Given the description of an element on the screen output the (x, y) to click on. 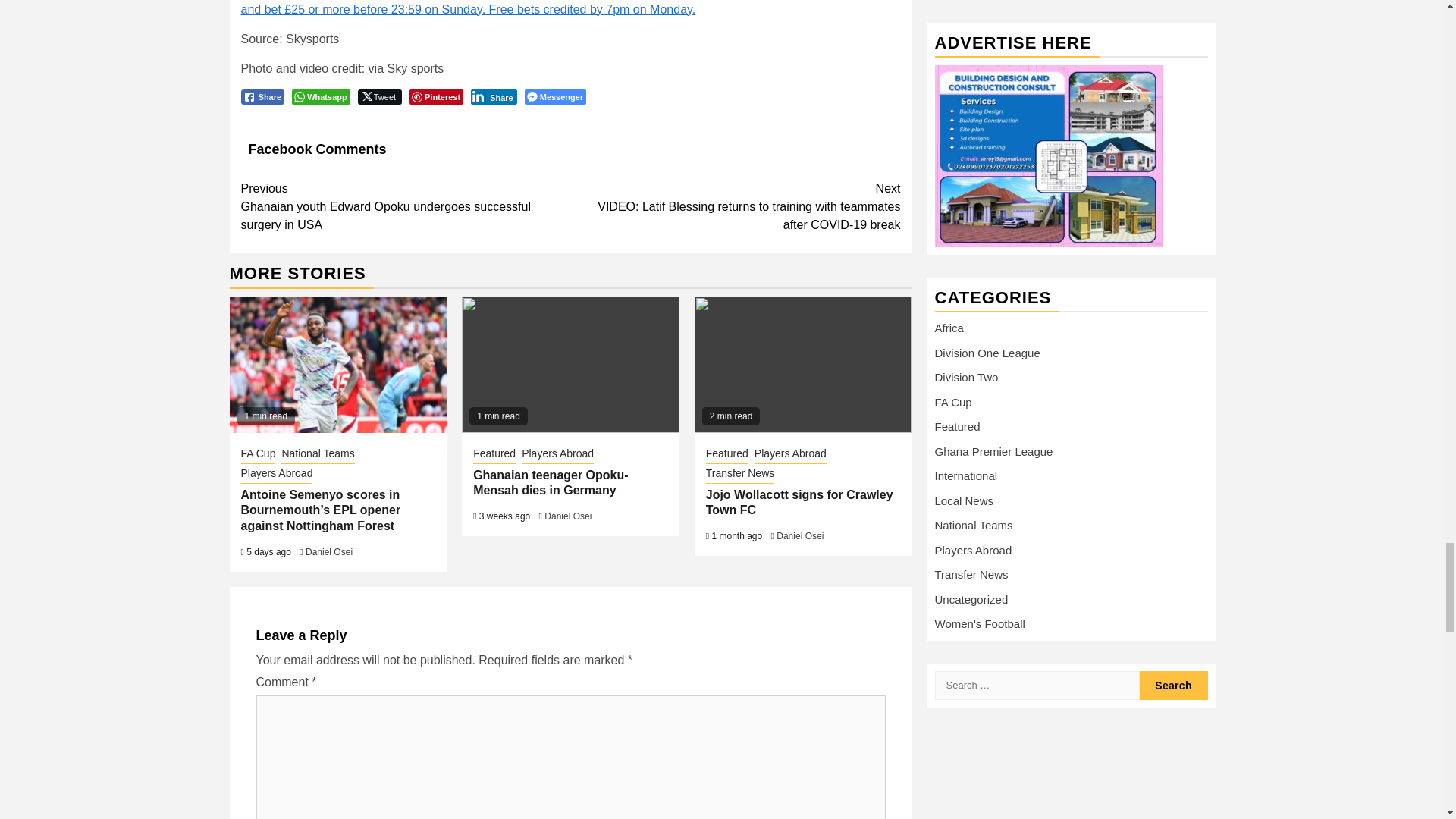
Share (493, 96)
Whatsapp (321, 96)
Pinterest (436, 96)
Tweet (379, 96)
Messenger (555, 96)
Share (263, 96)
